Given the description of an element on the screen output the (x, y) to click on. 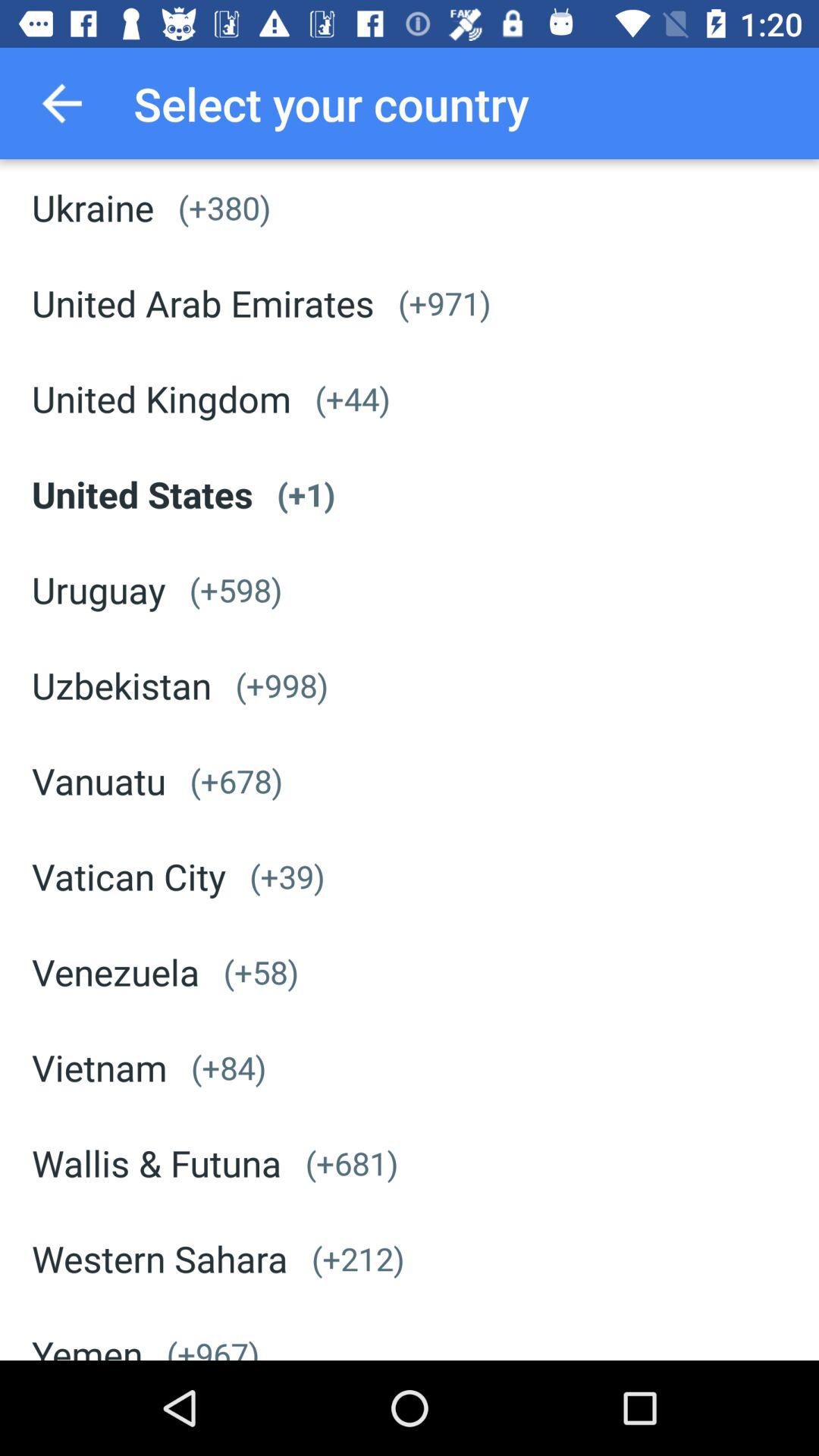
swipe to wallis & futuna (156, 1162)
